Given the description of an element on the screen output the (x, y) to click on. 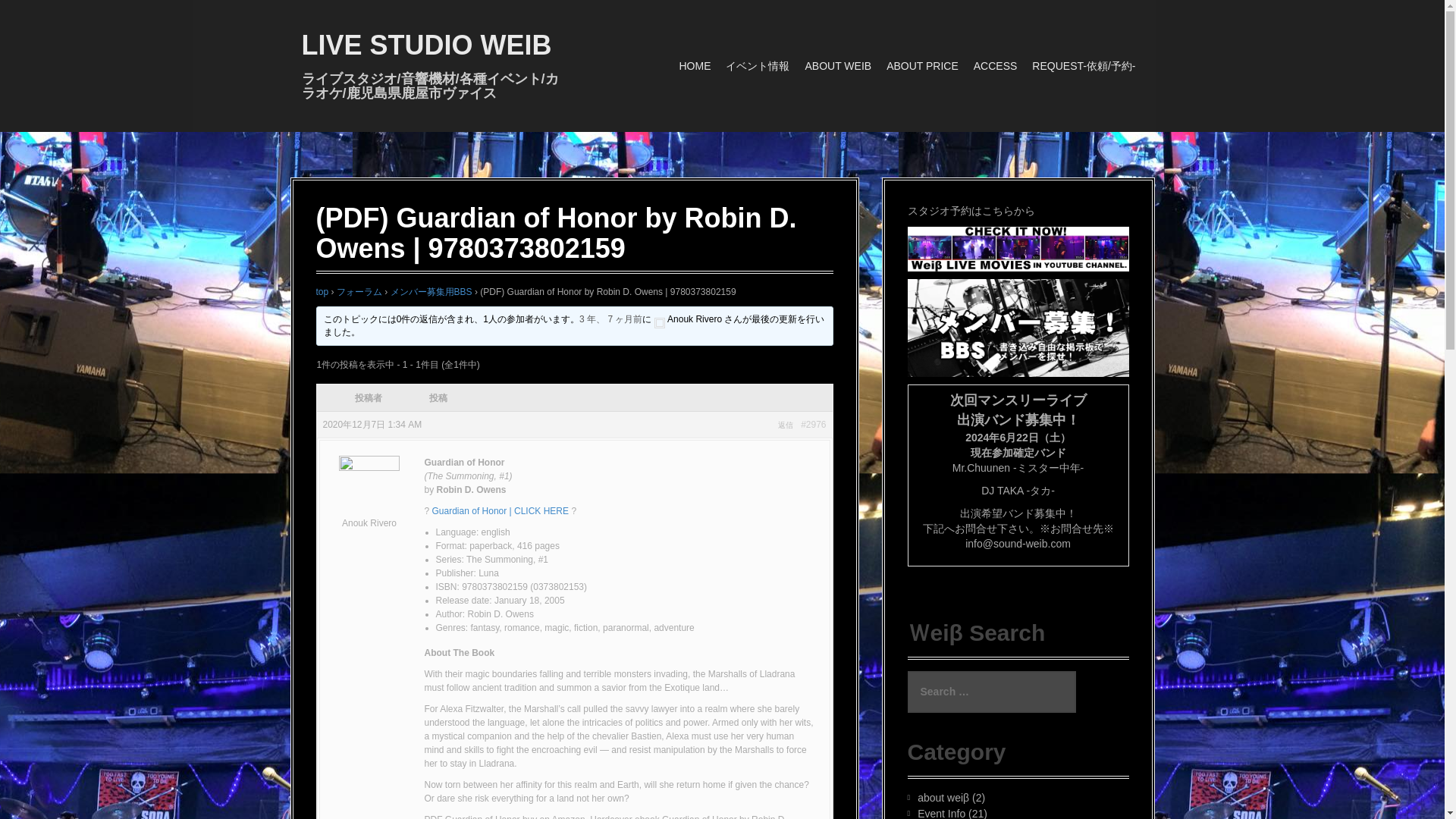
Event Info (941, 813)
ACCESS (995, 66)
ABOUT PRICE (922, 66)
HOME (694, 66)
Search for: (991, 691)
top (322, 291)
